Given the description of an element on the screen output the (x, y) to click on. 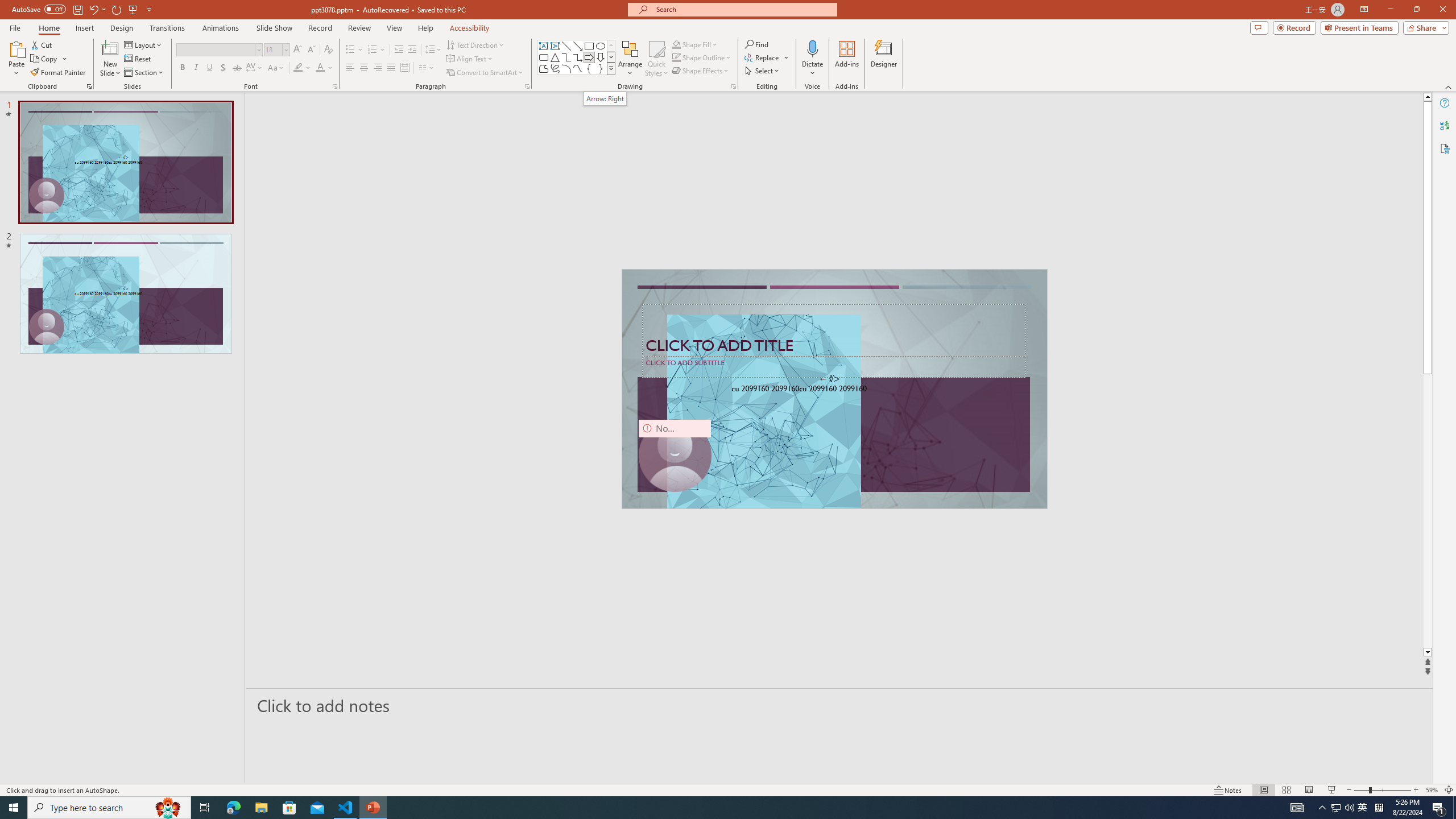
Clear Formatting (327, 49)
Right Brace (600, 68)
Select (762, 69)
Find... (756, 44)
Arrange (630, 58)
